Given the description of an element on the screen output the (x, y) to click on. 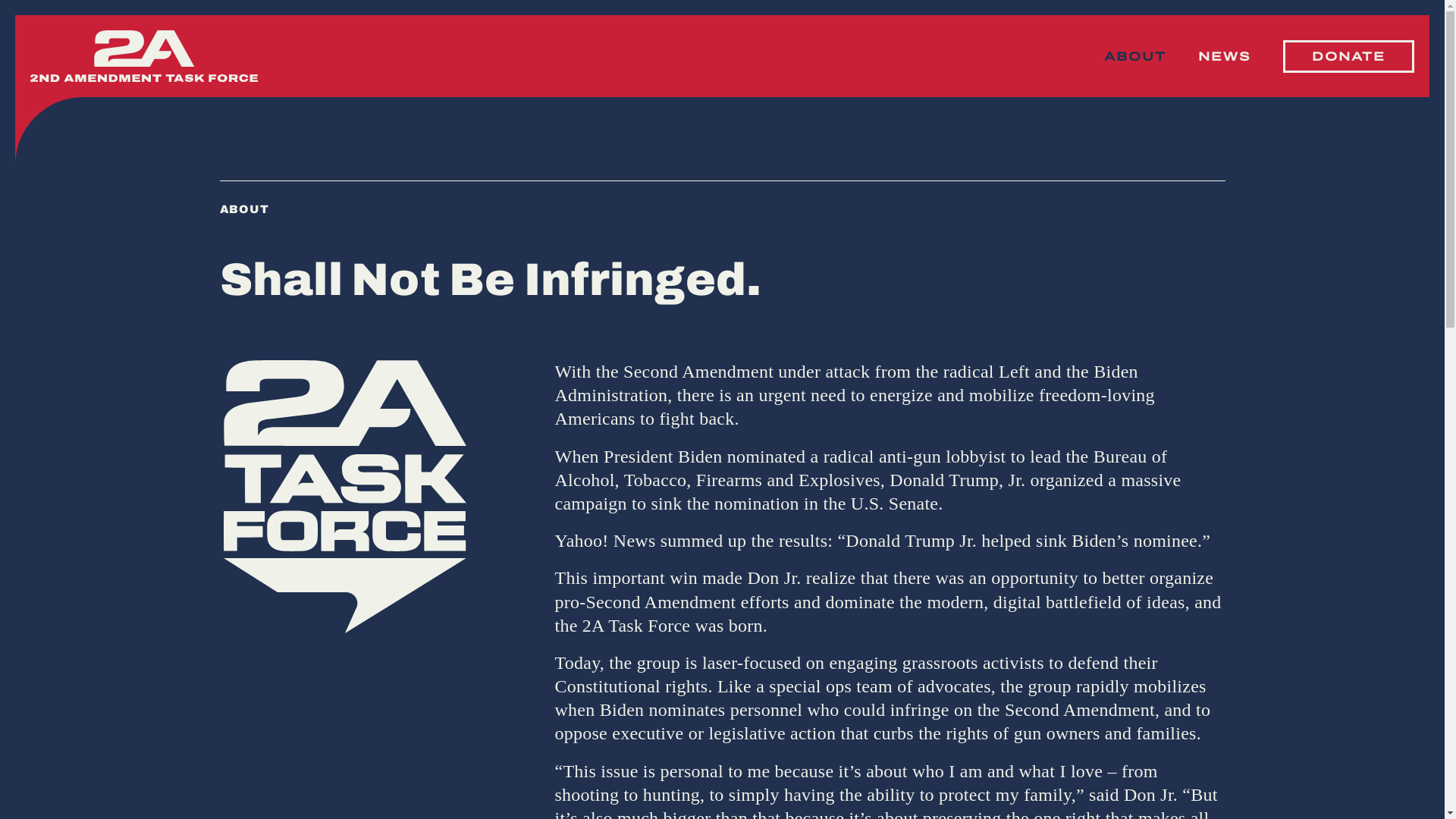
NEWS Element type: text (1224, 56)
ABOUT Element type: text (1135, 56)
DONATE Element type: text (1348, 56)
